Given the description of an element on the screen output the (x, y) to click on. 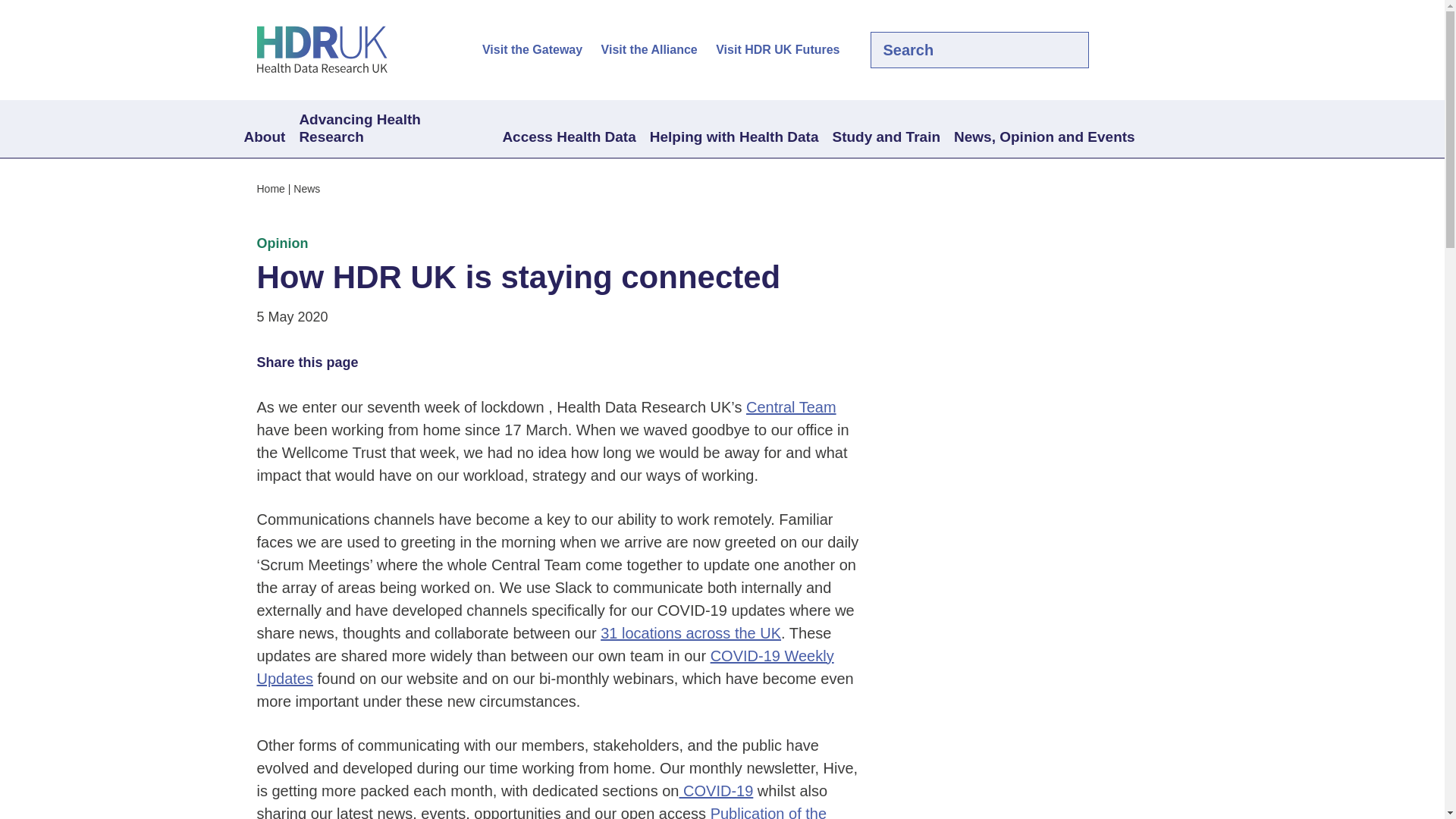
Visit the Gateway (531, 49)
Access Health Data (568, 137)
Helping with Health Data (734, 137)
About (263, 137)
Visit HDR UK Futures (778, 49)
Advancing Health Research (393, 128)
Visit the Alliance (649, 49)
Twitter (1126, 50)
LinkedIn (1152, 50)
YouTube (1179, 50)
